Given the description of an element on the screen output the (x, y) to click on. 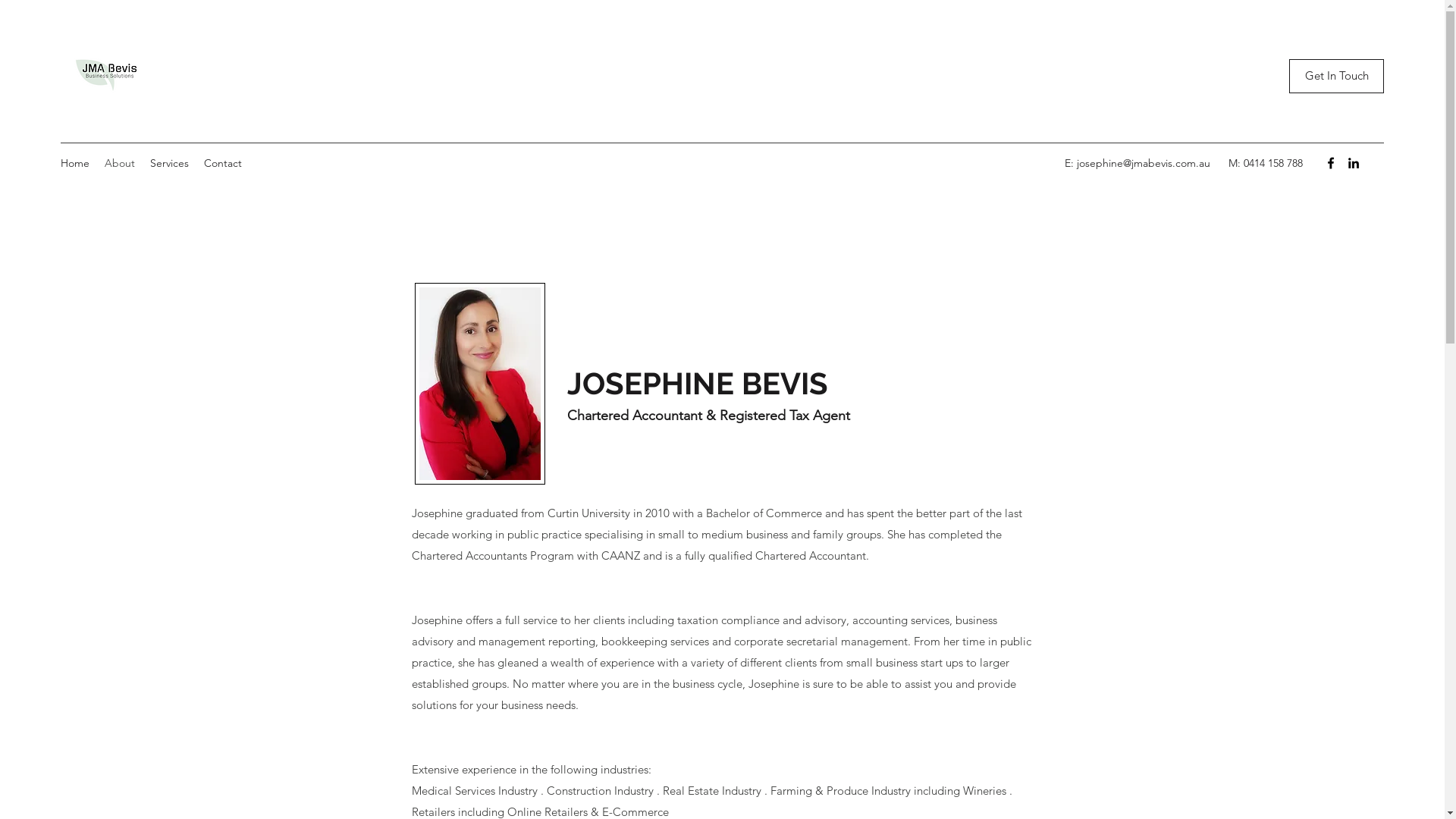
josephine@jmabevis.com.au Element type: text (1143, 162)
Services Element type: text (169, 162)
Get In Touch Element type: text (1336, 76)
About Element type: text (119, 162)
Contact Element type: text (222, 162)
Home Element type: text (75, 162)
